Given the description of an element on the screen output the (x, y) to click on. 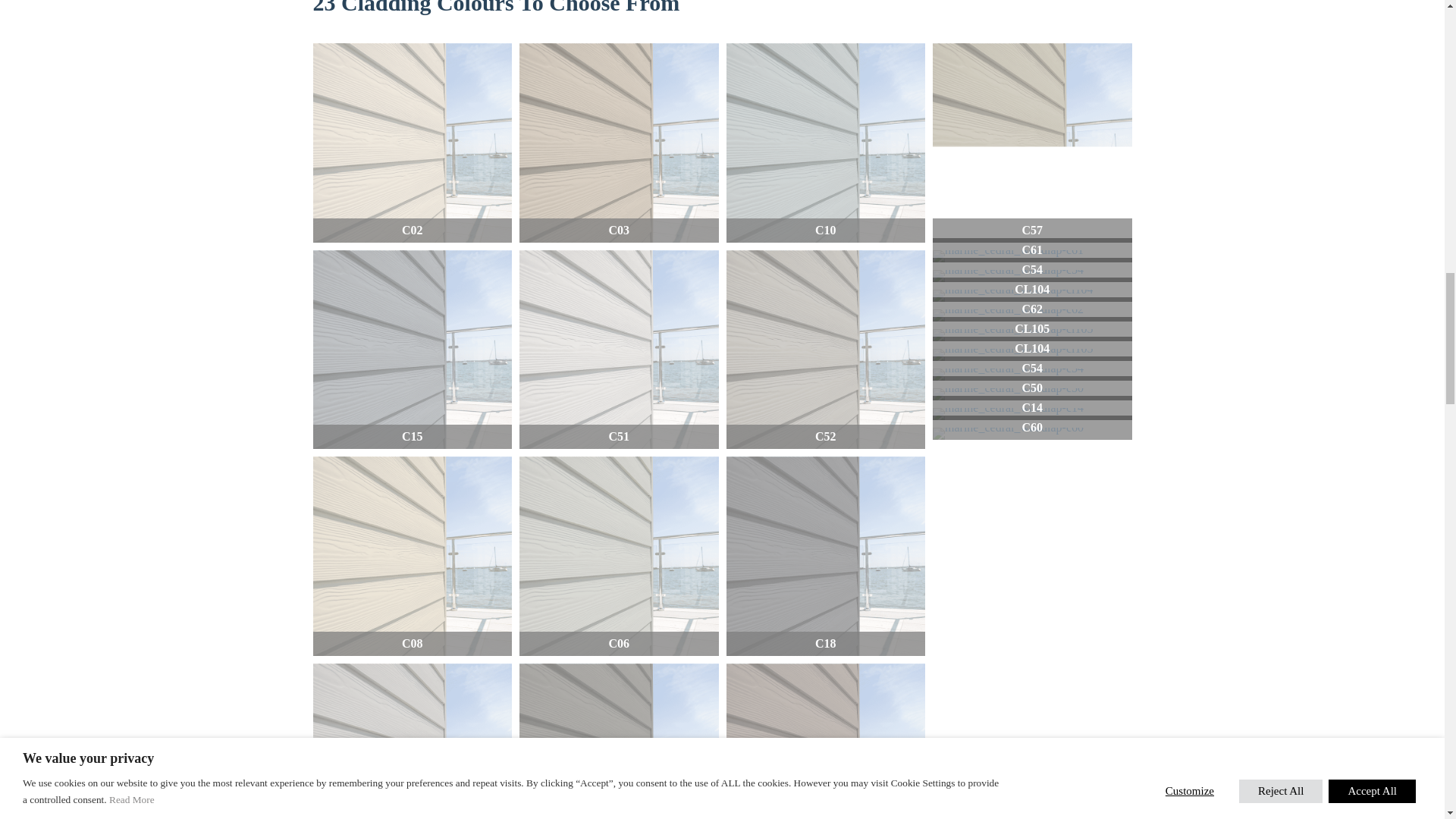
C54 (1032, 374)
CL104 (1032, 295)
C05 (412, 741)
CL105 (1032, 335)
C02 (412, 142)
C15 (412, 349)
C14 (1032, 413)
C08 (412, 556)
C06 (619, 556)
C03 (619, 142)
C62 (1032, 315)
C10 (826, 142)
C60 (1032, 433)
C55 (826, 741)
C57 (1032, 142)
